Given the description of an element on the screen output the (x, y) to click on. 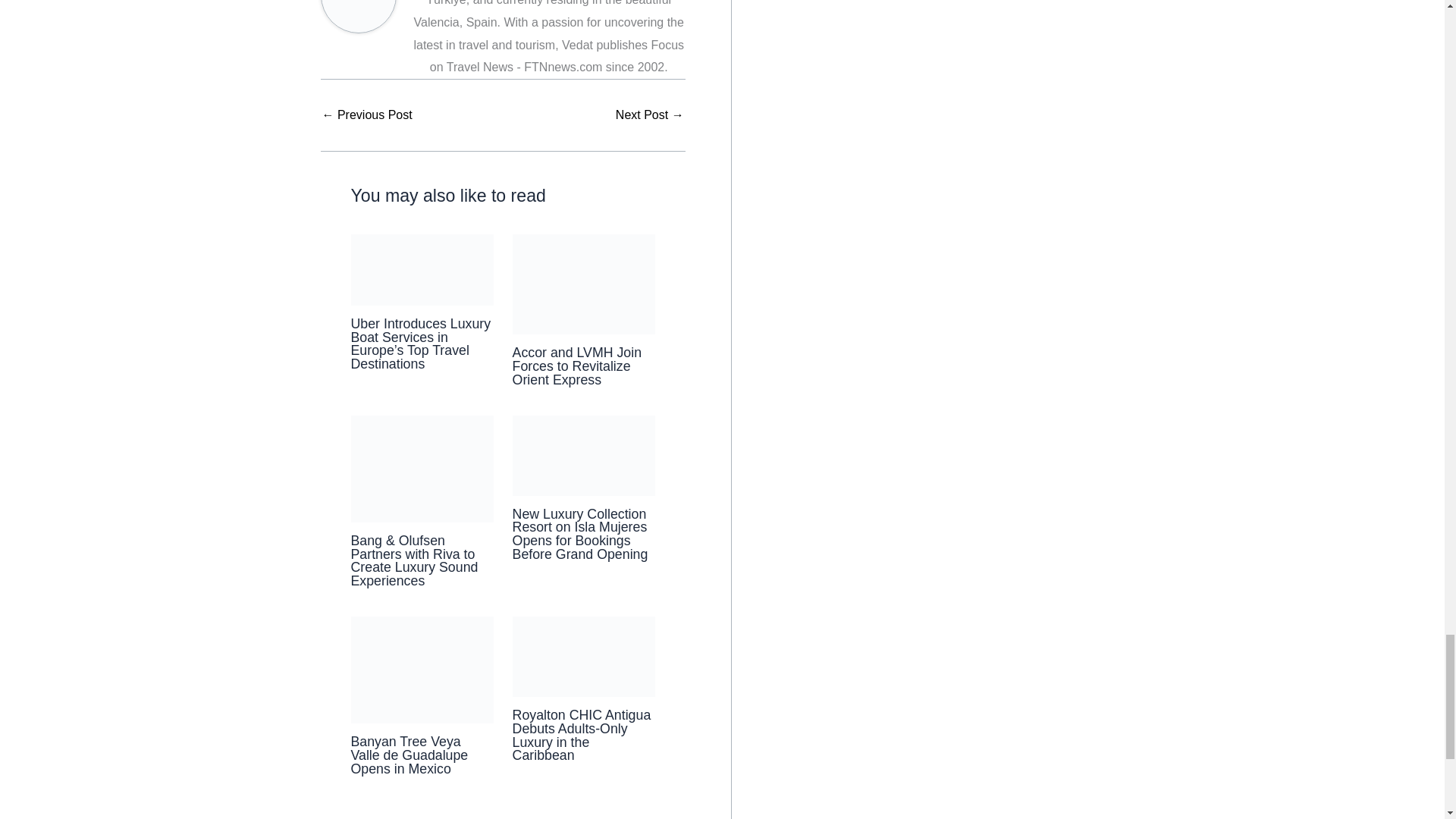
Oceania Cruises Resumes Cruise Operations from Oct. 2021 (366, 114)
